Given the description of an element on the screen output the (x, y) to click on. 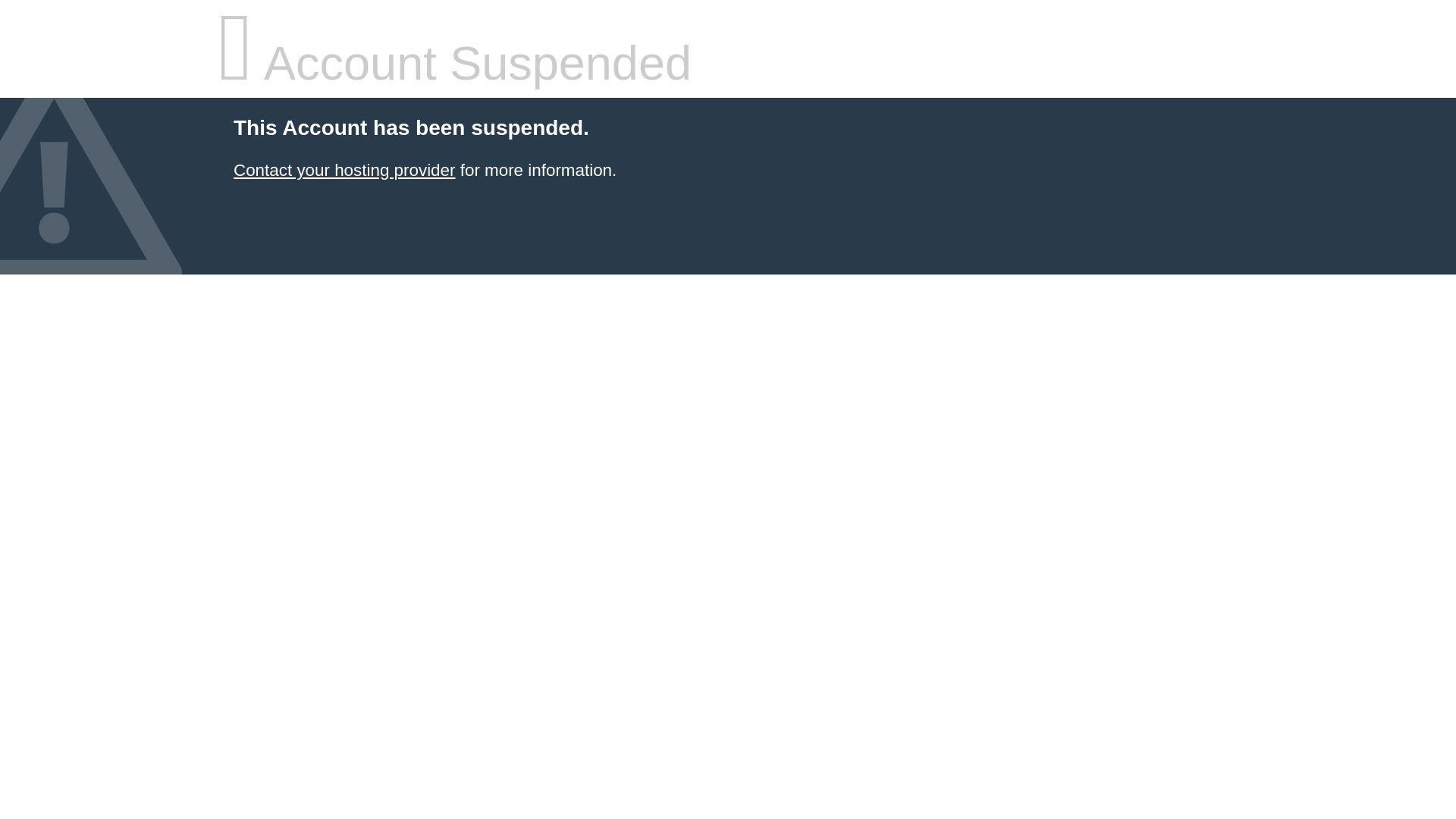
Contact your hosting provider (343, 169)
